Given the description of an element on the screen output the (x, y) to click on. 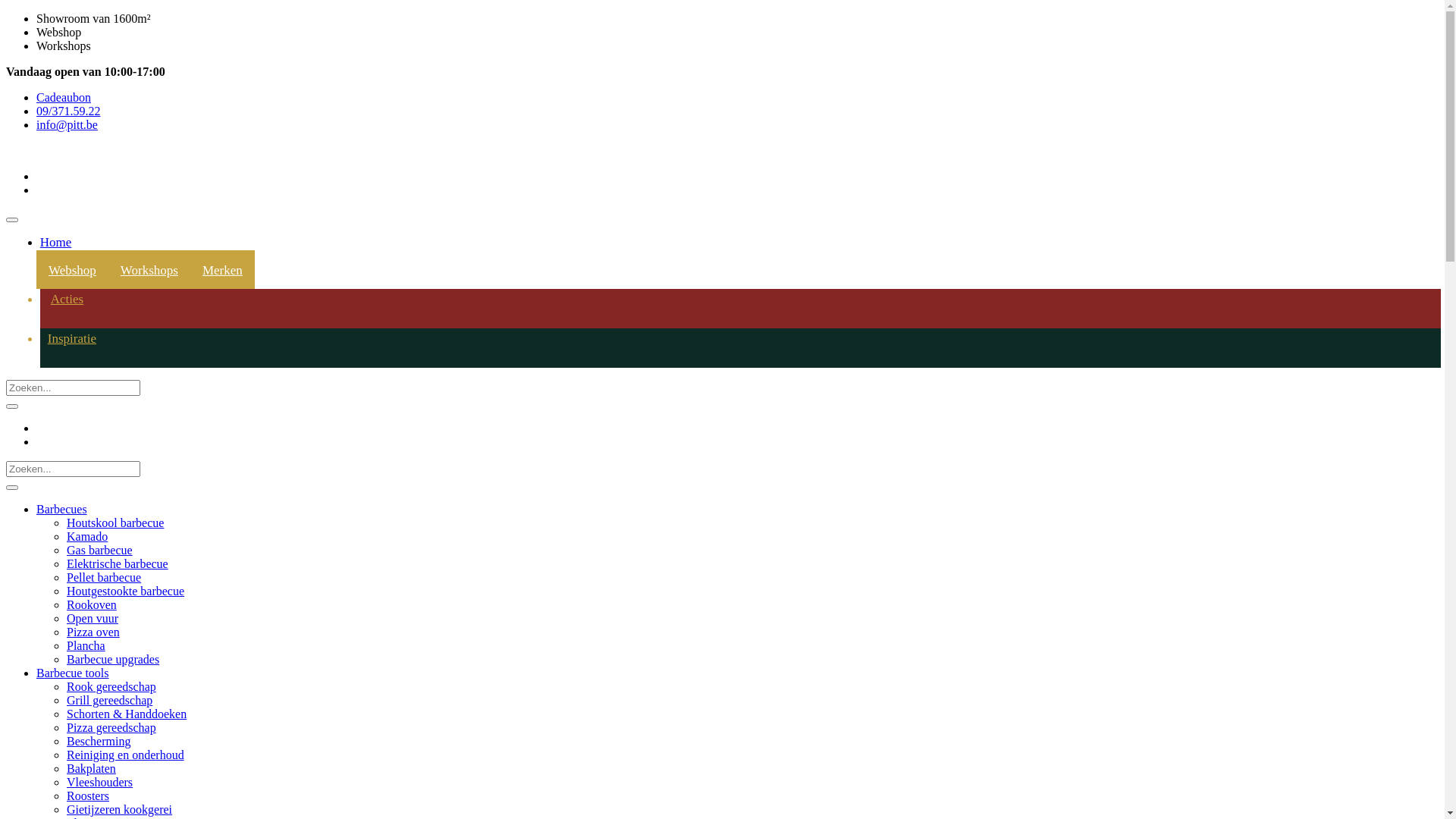
Workshops Element type: text (149, 270)
Betaling en verzending Element type: text (92, 695)
Barbecue upgrades Element type: text (112, 658)
Houtskool barbecue Element type: text (114, 522)
Merken Element type: text (222, 270)
Gietijzeren kookgerei Element type: text (119, 809)
Plancha Element type: text (85, 645)
Cadeaubon Element type: text (63, 97)
Webshop Element type: text (72, 270)
Kamado Element type: text (86, 795)
Algemene voorwaarden Element type: text (94, 681)
Barbecues Element type: text (61, 508)
Kamado Element type: text (86, 536)
Pizza oven Element type: text (92, 631)
Inspiratie Element type: text (71, 338)
Rook gereedschap Element type: text (111, 686)
Grill gereedschap Element type: text (109, 699)
Barbecues Element type: text (61, 768)
Houtgestookte barbecue Element type: text (125, 590)
Home Element type: text (20, 157)
Reiniging en onderhoud Element type: text (125, 754)
Rookoven Element type: text (91, 604)
Barbecue tools Element type: text (72, 672)
Bakplaten Element type: text (91, 768)
Houtskool barbecue Element type: text (114, 781)
Gas barbecue Element type: text (99, 809)
Roosters Element type: text (87, 795)
Over ons Element type: text (58, 627)
Terug naar home Element type: text (46, 272)
Pizza gereedschap Element type: text (111, 727)
info@pitt.be Element type: text (66, 124)
Open vuur Element type: text (92, 617)
Elektrische barbecue Element type: text (117, 563)
09/371.59.22 Element type: text (68, 110)
Bescherming Element type: text (98, 740)
Pellet barbecue Element type: text (103, 577)
Vleeshouders Element type: text (99, 781)
Home Element type: text (50, 613)
Schorten & Handdoeken Element type: text (126, 713)
Gas barbecue Element type: text (99, 549)
Contact Element type: text (55, 640)
Home Element type: text (56, 242)
Retourbeleid Element type: text (67, 708)
Privacybeleid Element type: text (69, 668)
Acties Element type: text (66, 298)
